Given the description of an element on the screen output the (x, y) to click on. 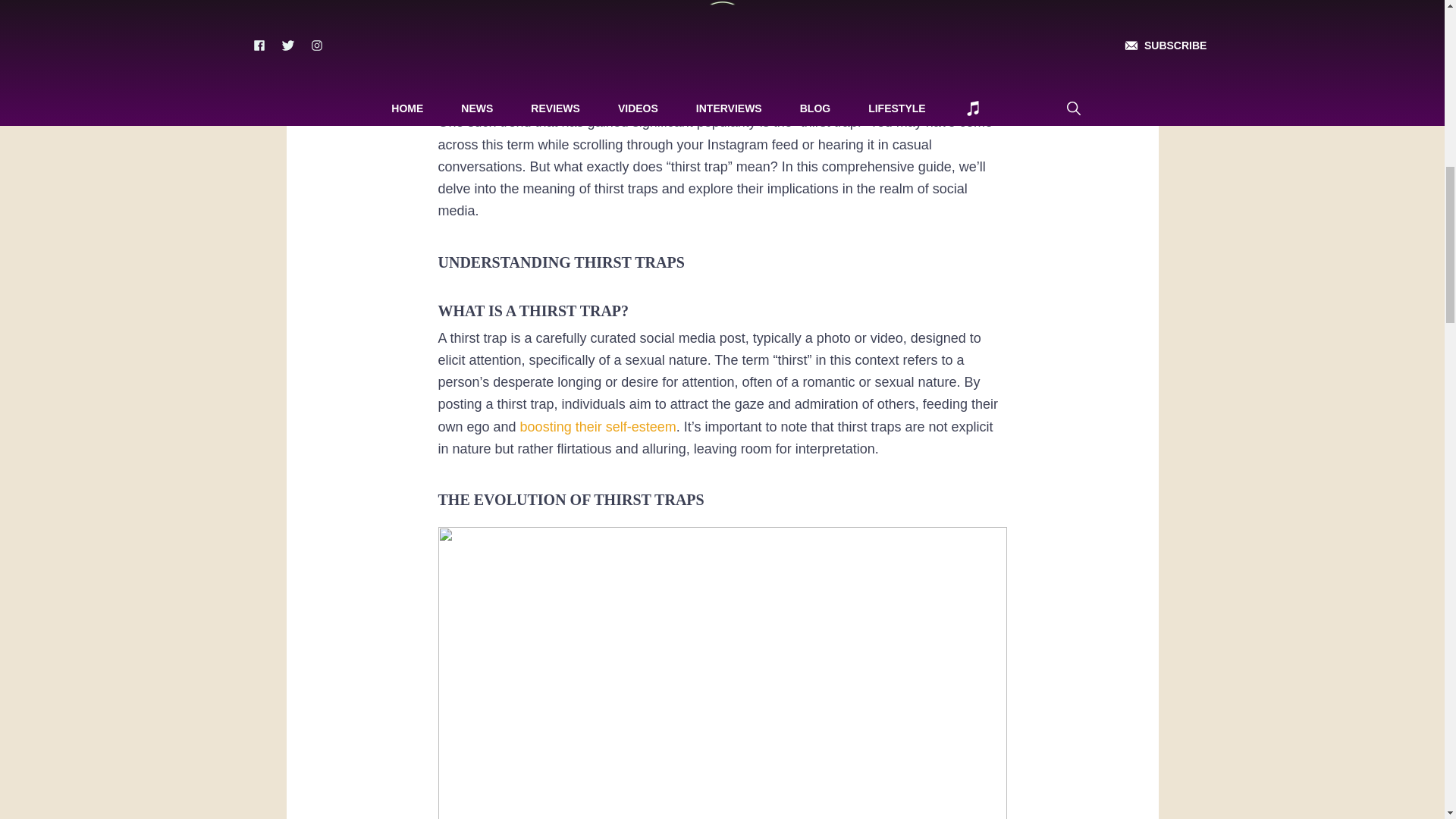
boosting their self-esteem (598, 426)
